Given the description of an element on the screen output the (x, y) to click on. 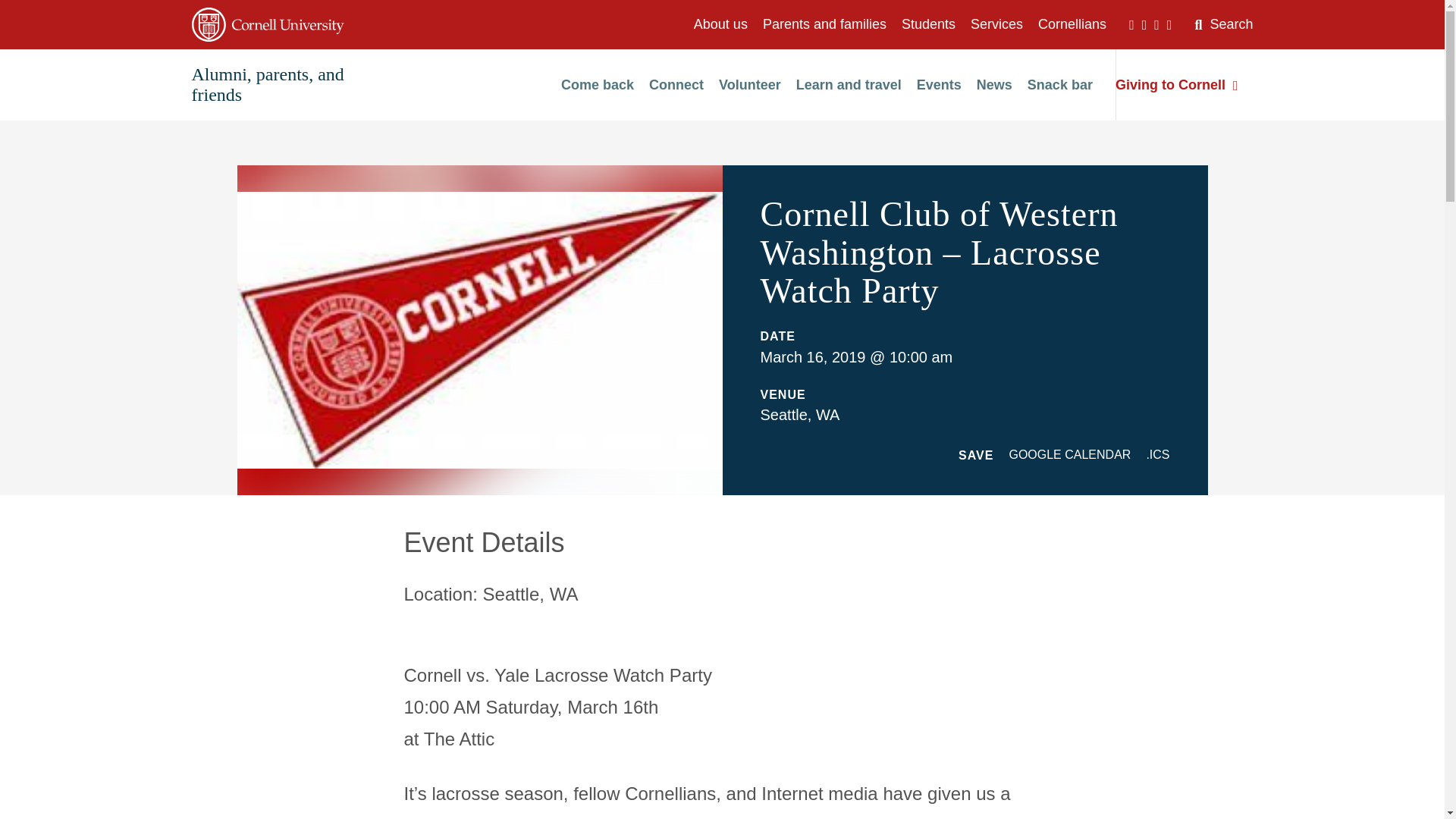
Giving to Cornell (1177, 85)
Cornellians (1072, 23)
Volunteer (749, 84)
Events (938, 84)
Snack bar (1060, 84)
News (993, 84)
GOOGLE CALENDAR (1070, 454)
Students (928, 23)
Search (1222, 24)
Learn and travel (848, 84)
Connect (676, 84)
Services (997, 23)
.ICS (1157, 454)
About us (721, 23)
Alumni, parents, and friends (266, 84)
